Given the description of an element on the screen output the (x, y) to click on. 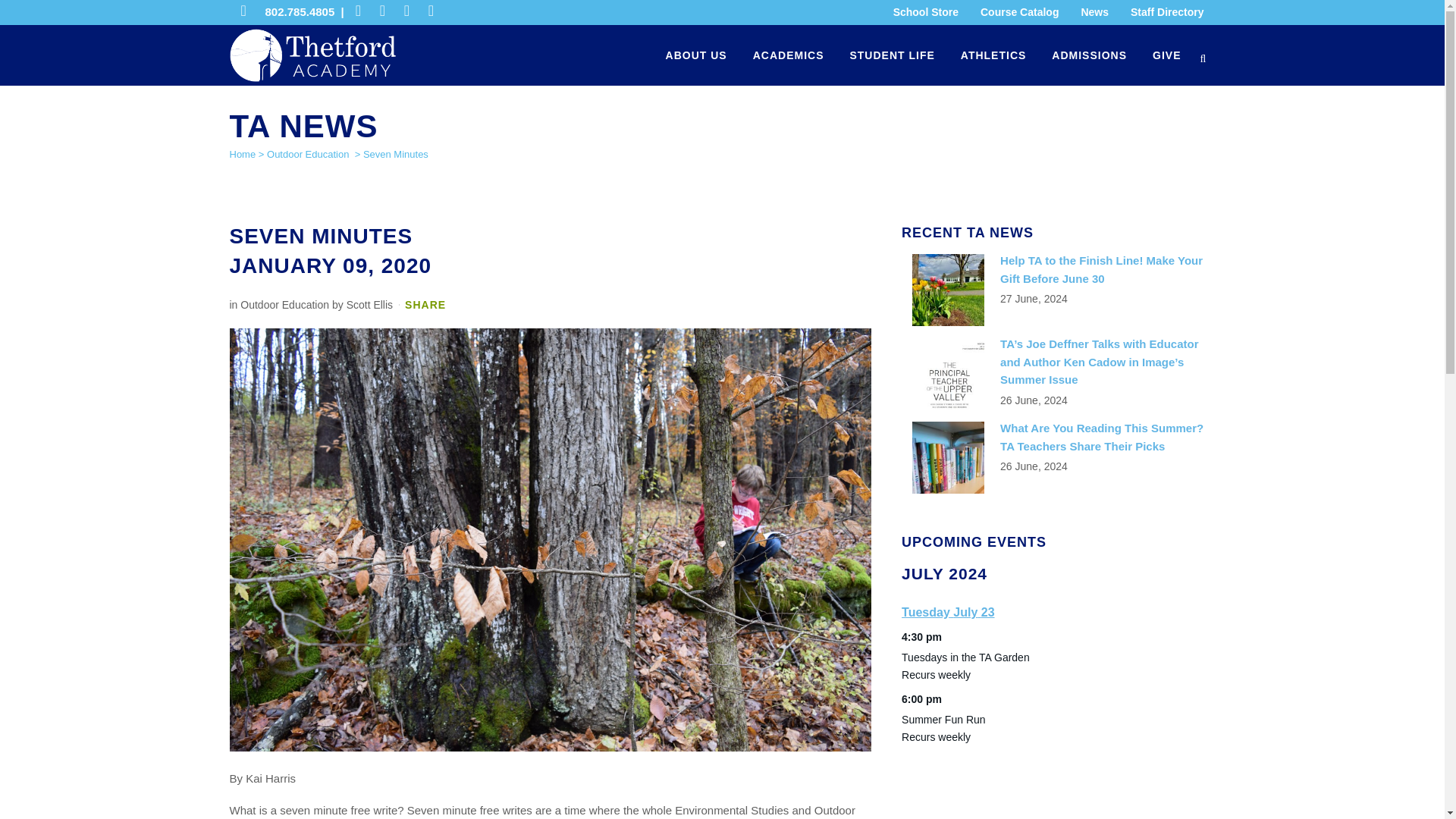
calendar (367, 12)
instagram (416, 12)
ABOUT US (695, 55)
ACADEMICS (788, 55)
STUDENT LIFE (891, 55)
School Store (920, 12)
News (1088, 12)
search (1203, 55)
-youtube-play (440, 12)
facebook-square (392, 12)
Staff Directory (1161, 12)
Course Catalog (1013, 12)
